Given the description of an element on the screen output the (x, y) to click on. 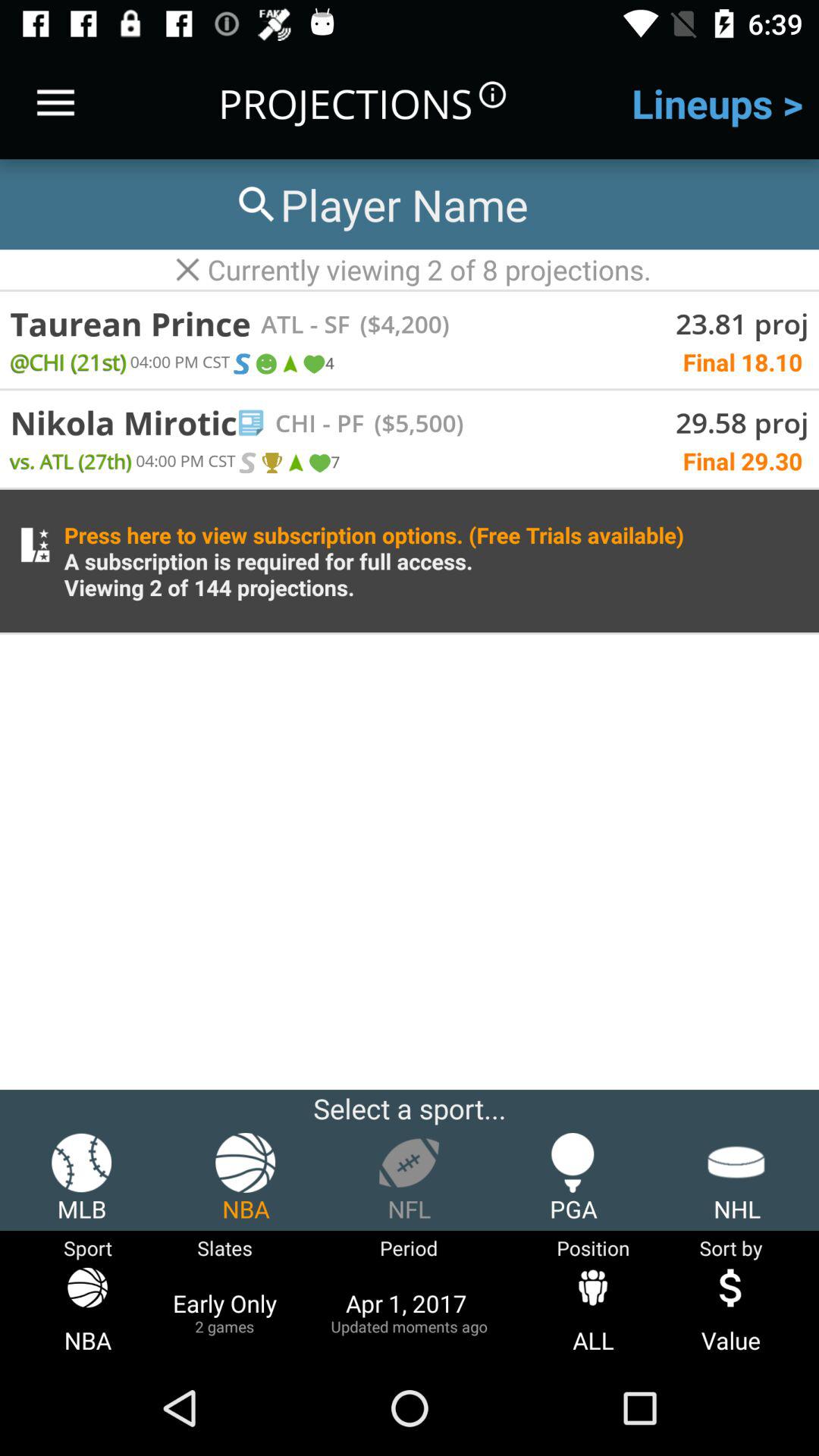
press item to the left of the projections item (55, 103)
